Given the description of an element on the screen output the (x, y) to click on. 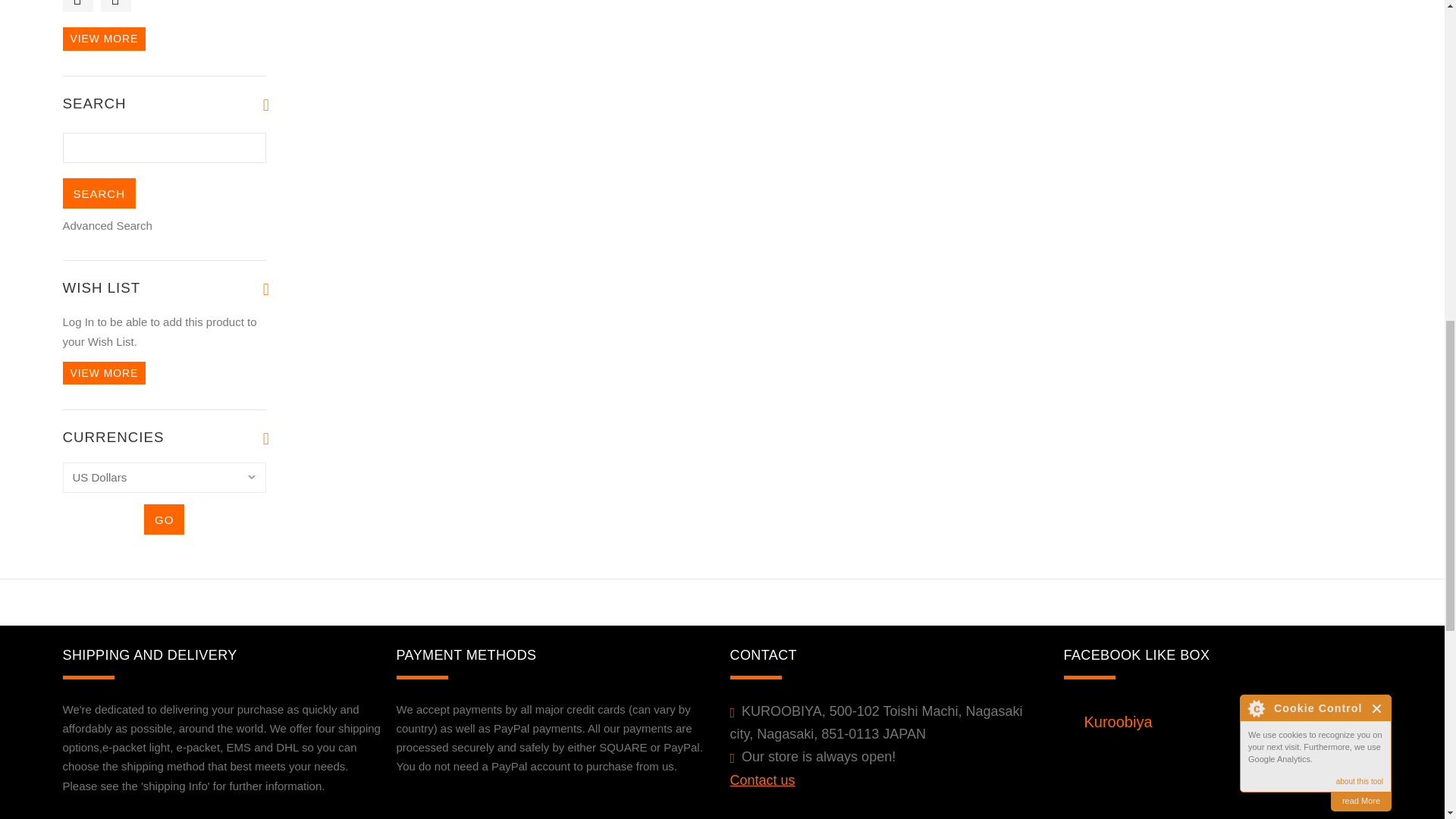
Go (164, 519)
Search (98, 192)
Search (98, 192)
